Given the description of an element on the screen output the (x, y) to click on. 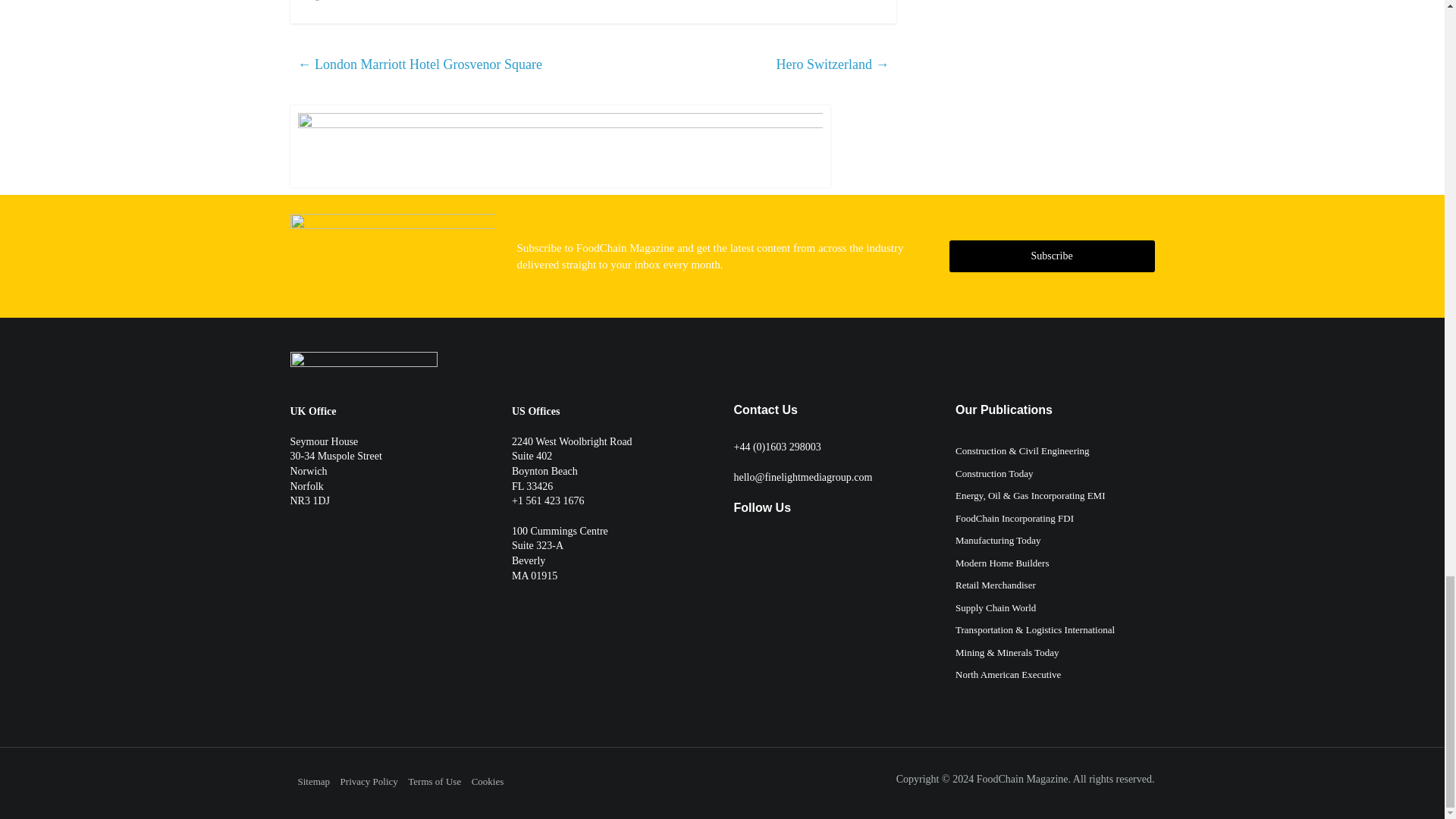
FoodChain Magazine (1022, 778)
Subscribe (1051, 255)
Insights (315, 0)
Twitter (739, 547)
